Given the description of an element on the screen output the (x, y) to click on. 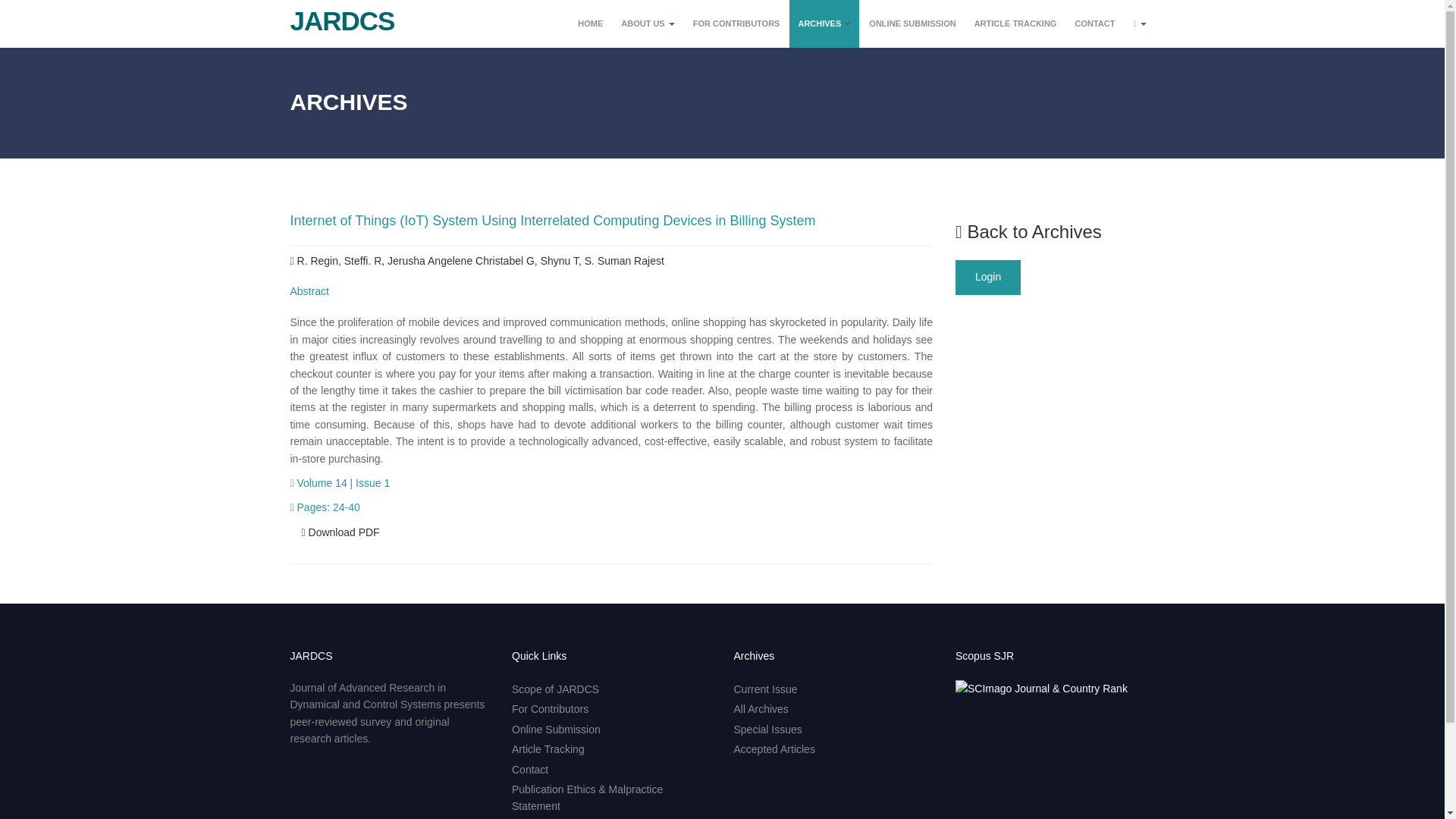
CONTACT (1093, 23)
ABOUT US (647, 23)
ARTICLE TRACKING (1015, 23)
Online Submission (555, 729)
Back to Archives (1028, 231)
FOR CONTRIBUTORS (736, 23)
Download PDF (340, 532)
All Archives (761, 708)
Scope of JARDCS (555, 689)
ARCHIVES (824, 23)
JARDCS (336, 14)
Article Tracking (548, 748)
Special Issues (767, 729)
Login (987, 277)
Current Issue (765, 689)
